Given the description of an element on the screen output the (x, y) to click on. 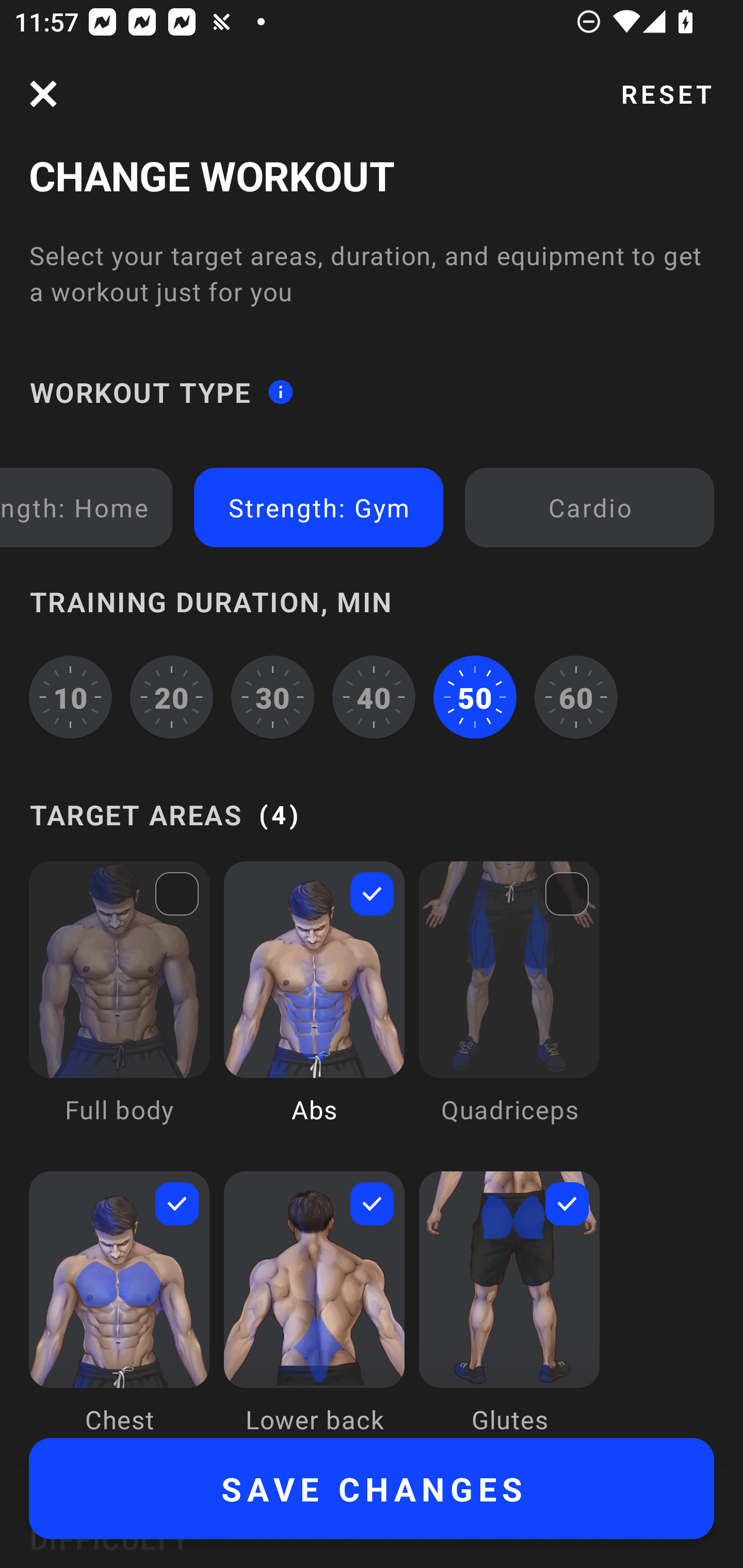
Navigation icon (43, 93)
RESET (666, 93)
Workout type information button (280, 391)
Strength: Home (82, 507)
Cardio (588, 507)
10 (70, 696)
20 (171, 696)
30 (272, 696)
40 (373, 696)
50 (474, 696)
60 (575, 696)
Full body (118, 1007)
Quadriceps (509, 1007)
SAVE CHANGES (371, 1488)
